Given the description of an element on the screen output the (x, y) to click on. 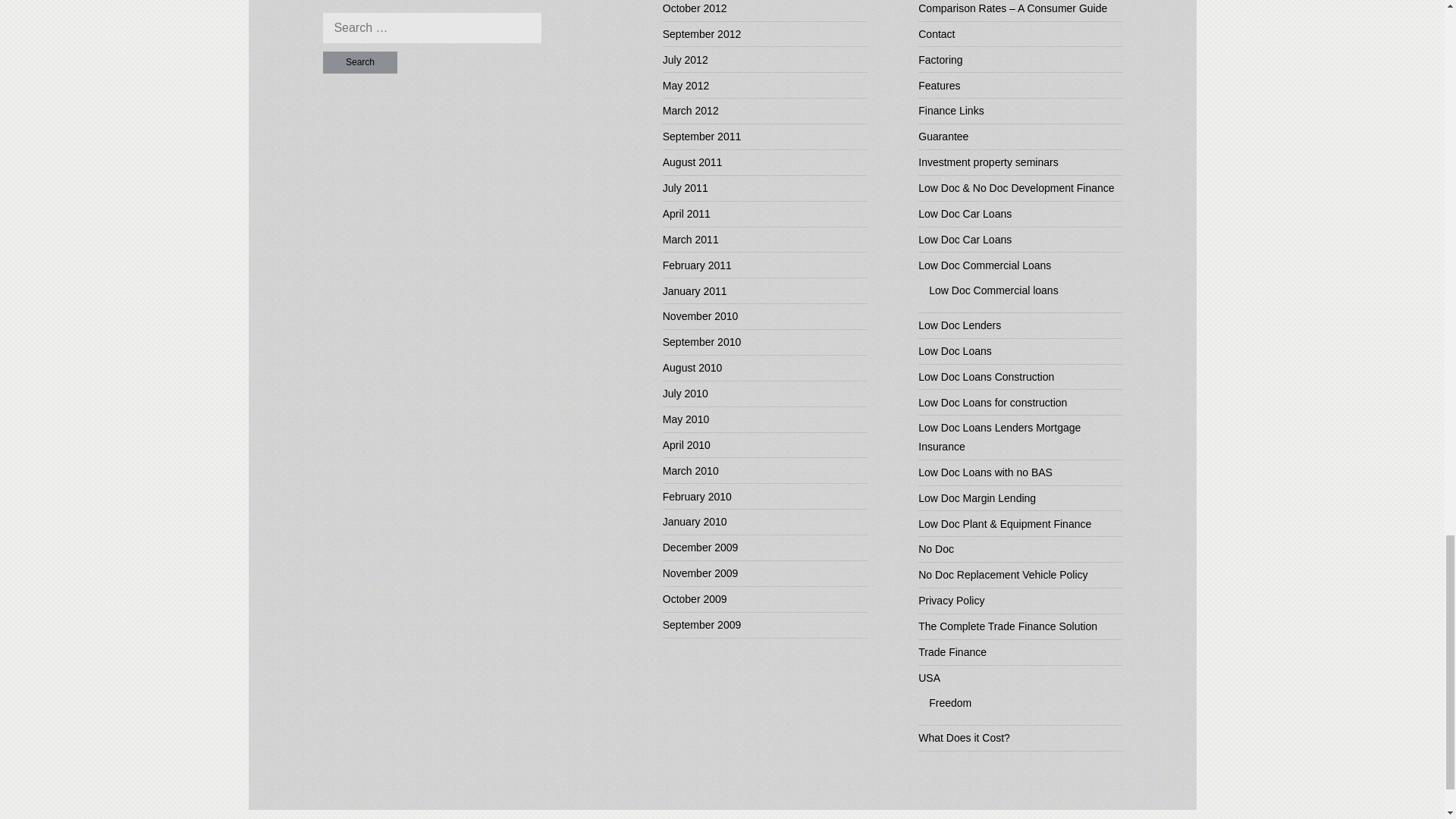
Search (360, 62)
Search for: (432, 28)
Search (360, 62)
